Given the description of an element on the screen output the (x, y) to click on. 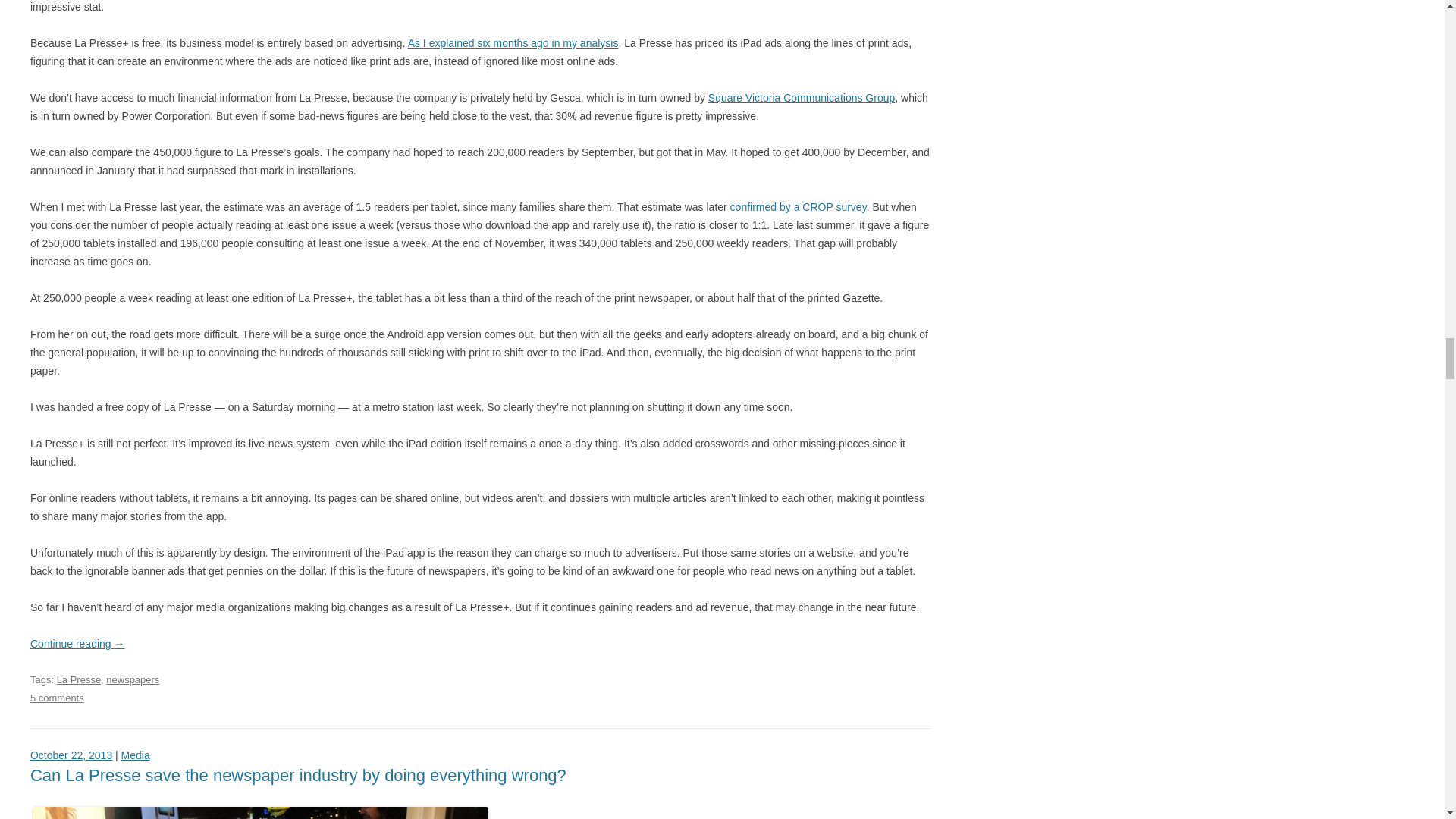
8:09 pm (71, 755)
